Given the description of an element on the screen output the (x, y) to click on. 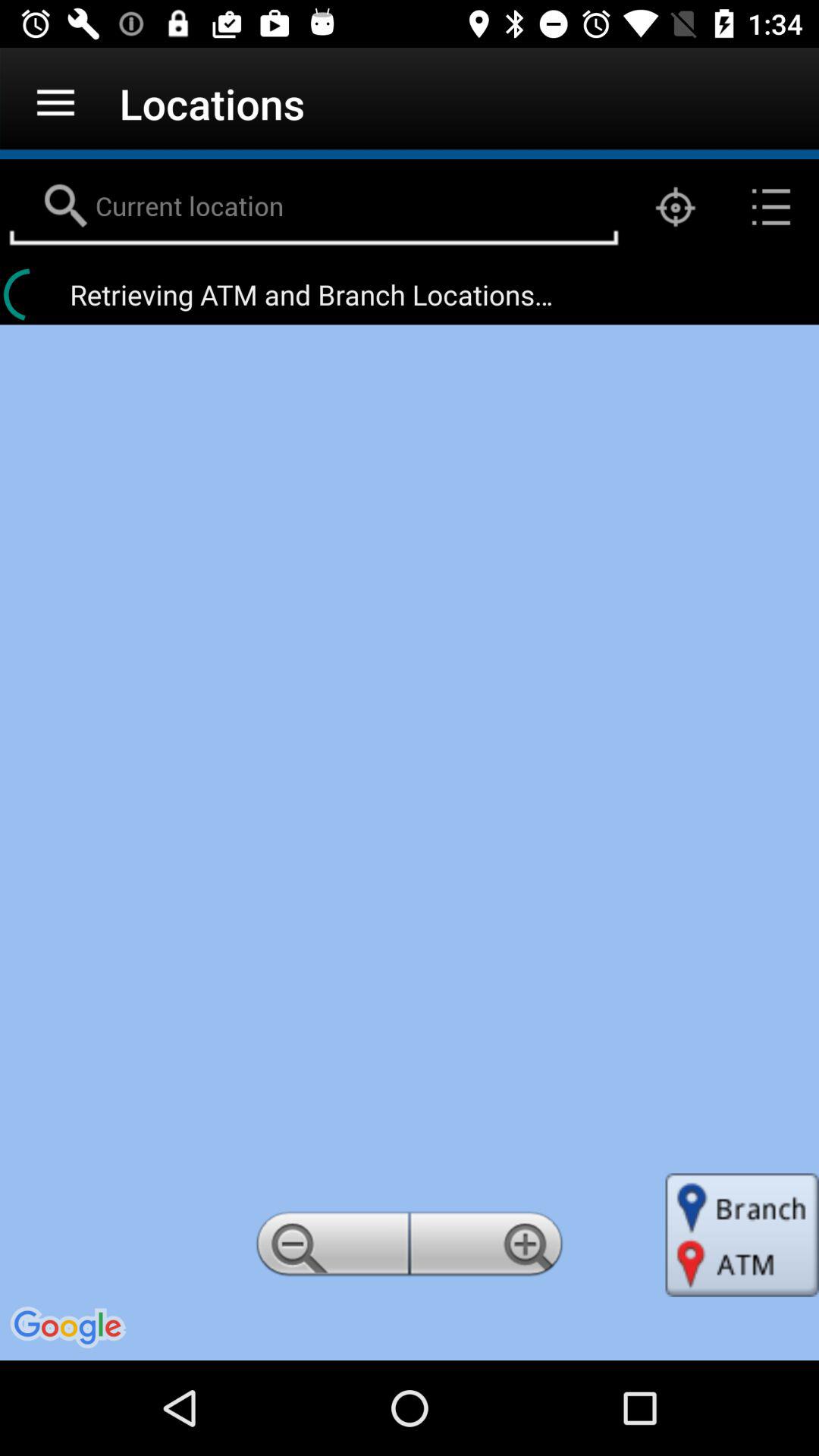
for search (313, 206)
